Given the description of an element on the screen output the (x, y) to click on. 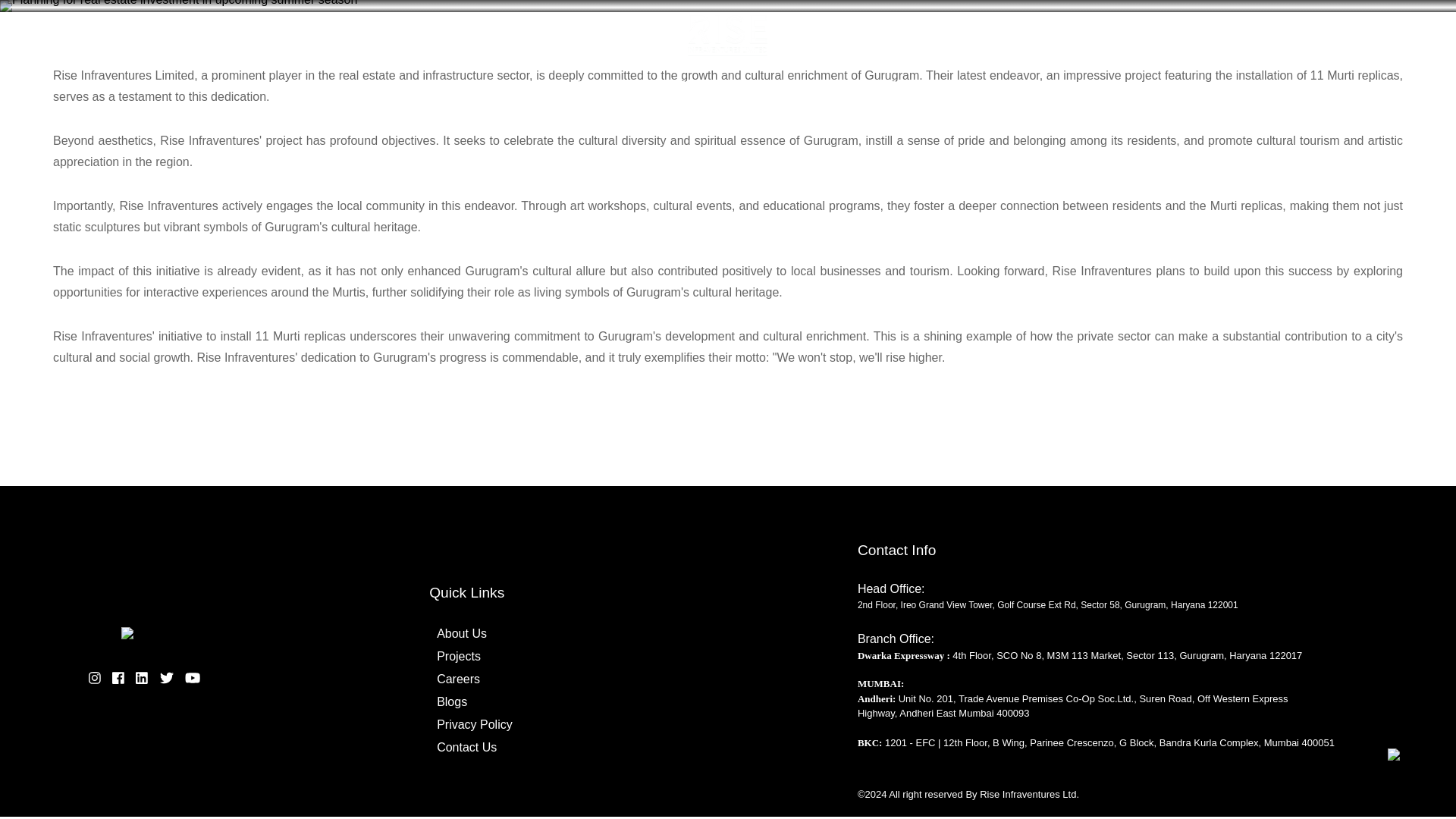
CONTACT (980, 84)
OUR STORY (482, 84)
CAREERS (913, 84)
Careers (457, 679)
LinkedIn (141, 677)
Instagram (94, 677)
Facebook (117, 677)
NEWS ROOM (704, 84)
About Us (461, 633)
Youtube (191, 677)
Blogs (450, 701)
SERVICES (563, 84)
Projects (458, 656)
1800 547 77 999 (1345, 24)
CITIES (631, 84)
